Given the description of an element on the screen output the (x, y) to click on. 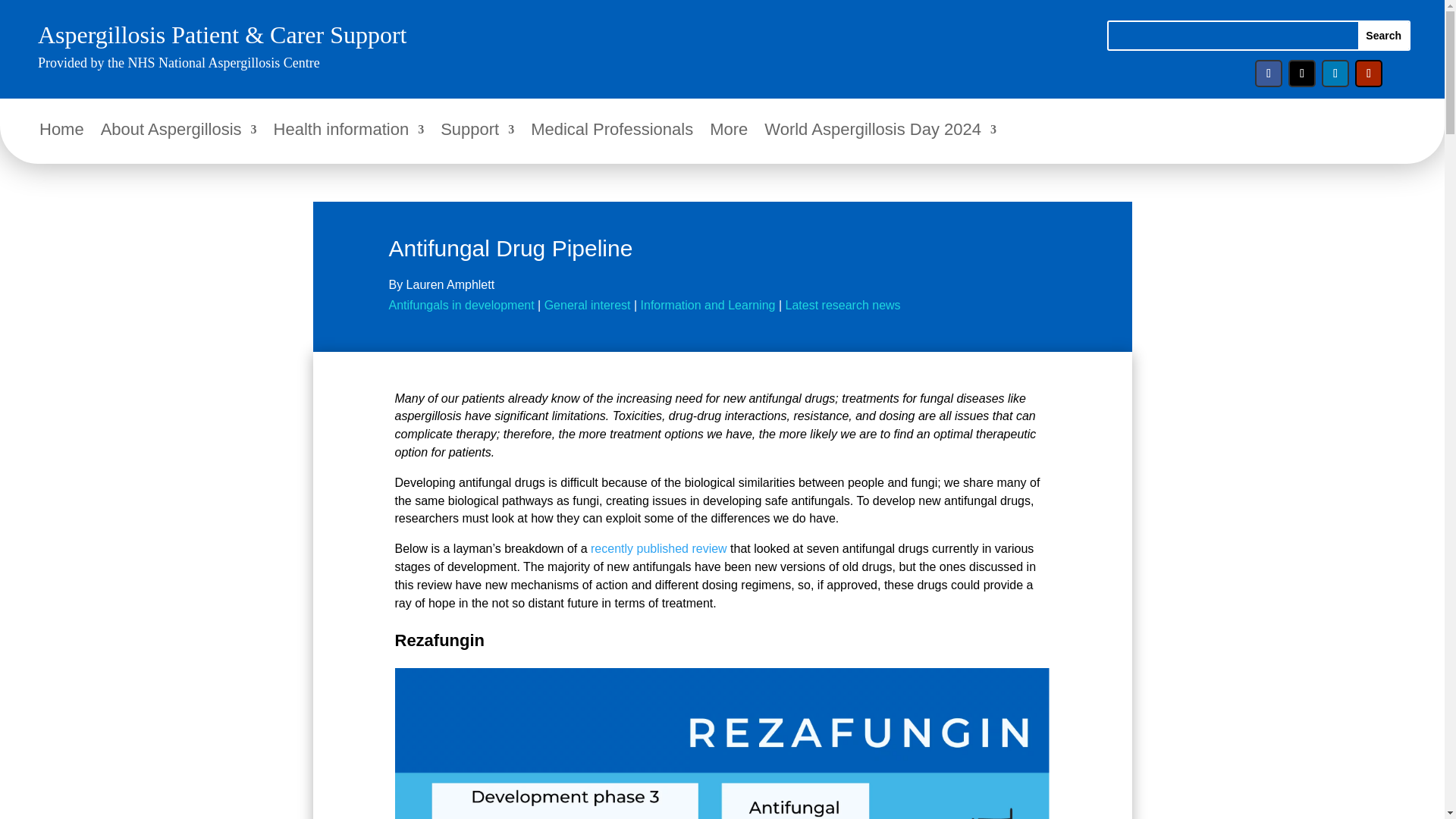
Health information (349, 132)
Search (1383, 35)
Follow on LinkedIn (1335, 72)
Home (61, 132)
Search (1383, 35)
Search (1383, 35)
Follow on X (1302, 72)
Follow on Youtube (1368, 72)
Follow on Facebook (1268, 72)
rezafungin (721, 743)
